Given the description of an element on the screen output the (x, y) to click on. 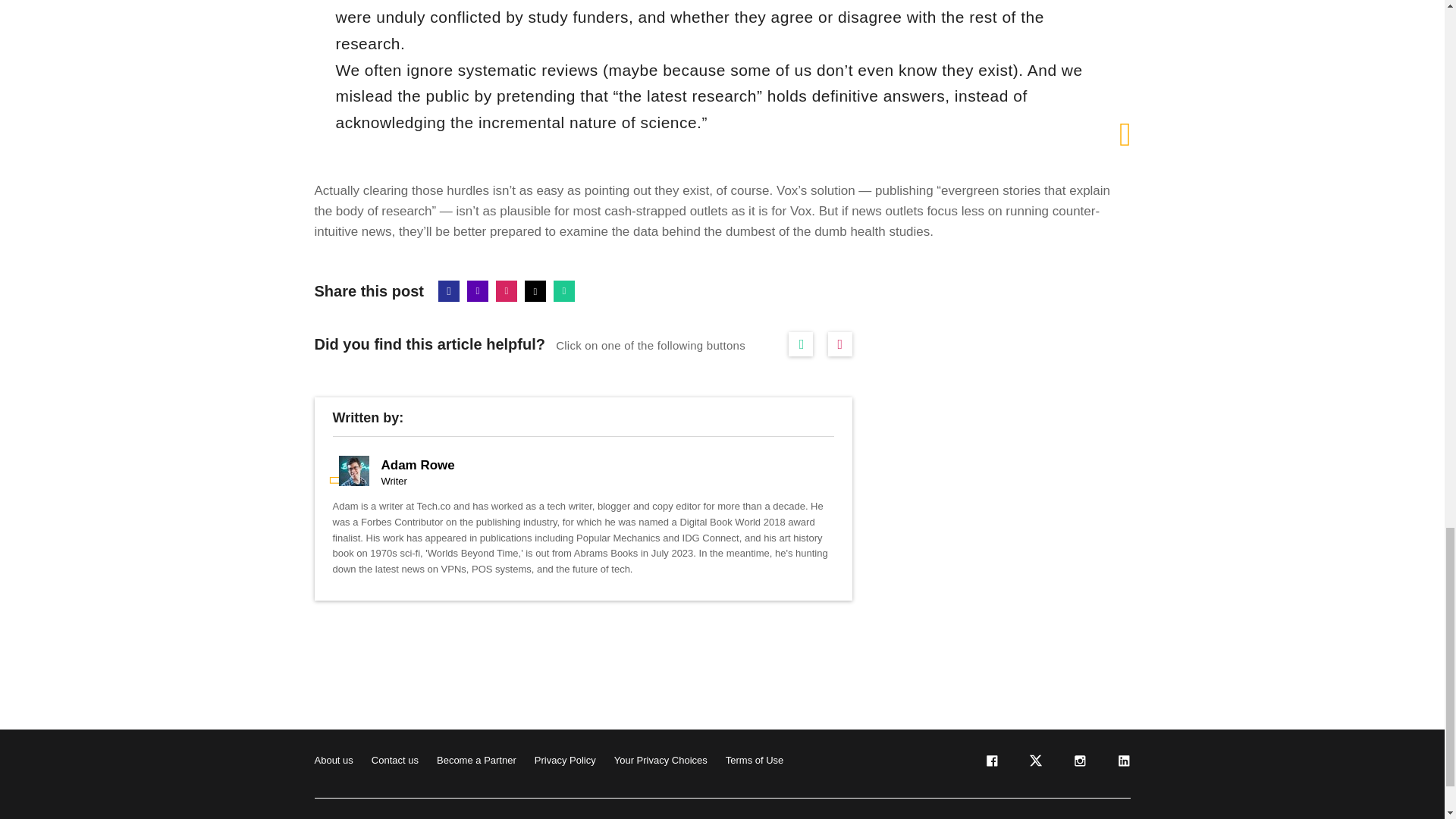
twitter-x (1034, 763)
Flipboard (506, 291)
linkedin (1122, 763)
Linkedin (477, 291)
instagram (1078, 763)
Facebook (449, 291)
Whatsapp (564, 291)
facebook (990, 763)
Twitter-x (535, 291)
